Given the description of an element on the screen output the (x, y) to click on. 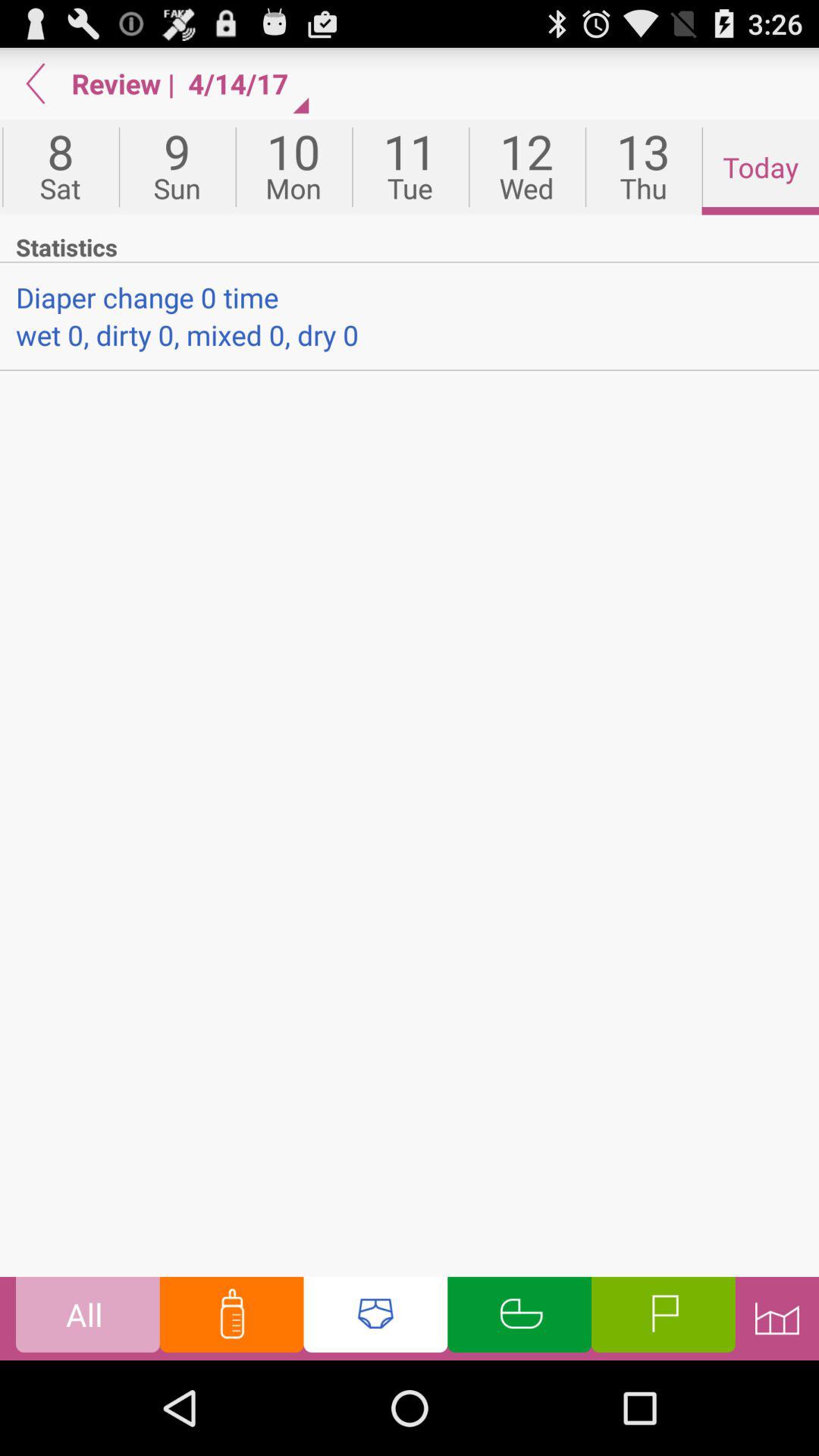
go back (35, 83)
